Given the description of an element on the screen output the (x, y) to click on. 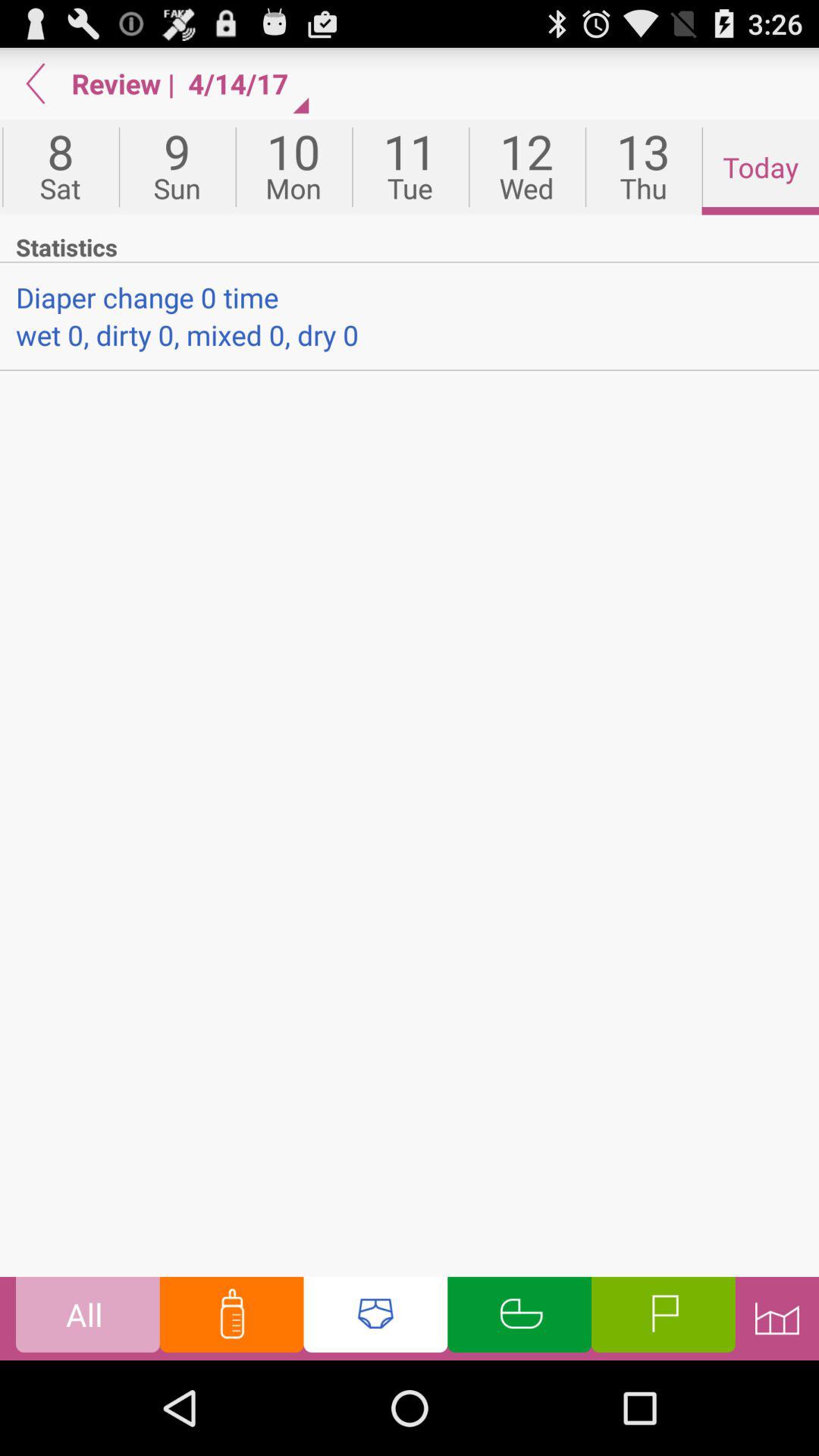
go back (35, 83)
